Given the description of an element on the screen output the (x, y) to click on. 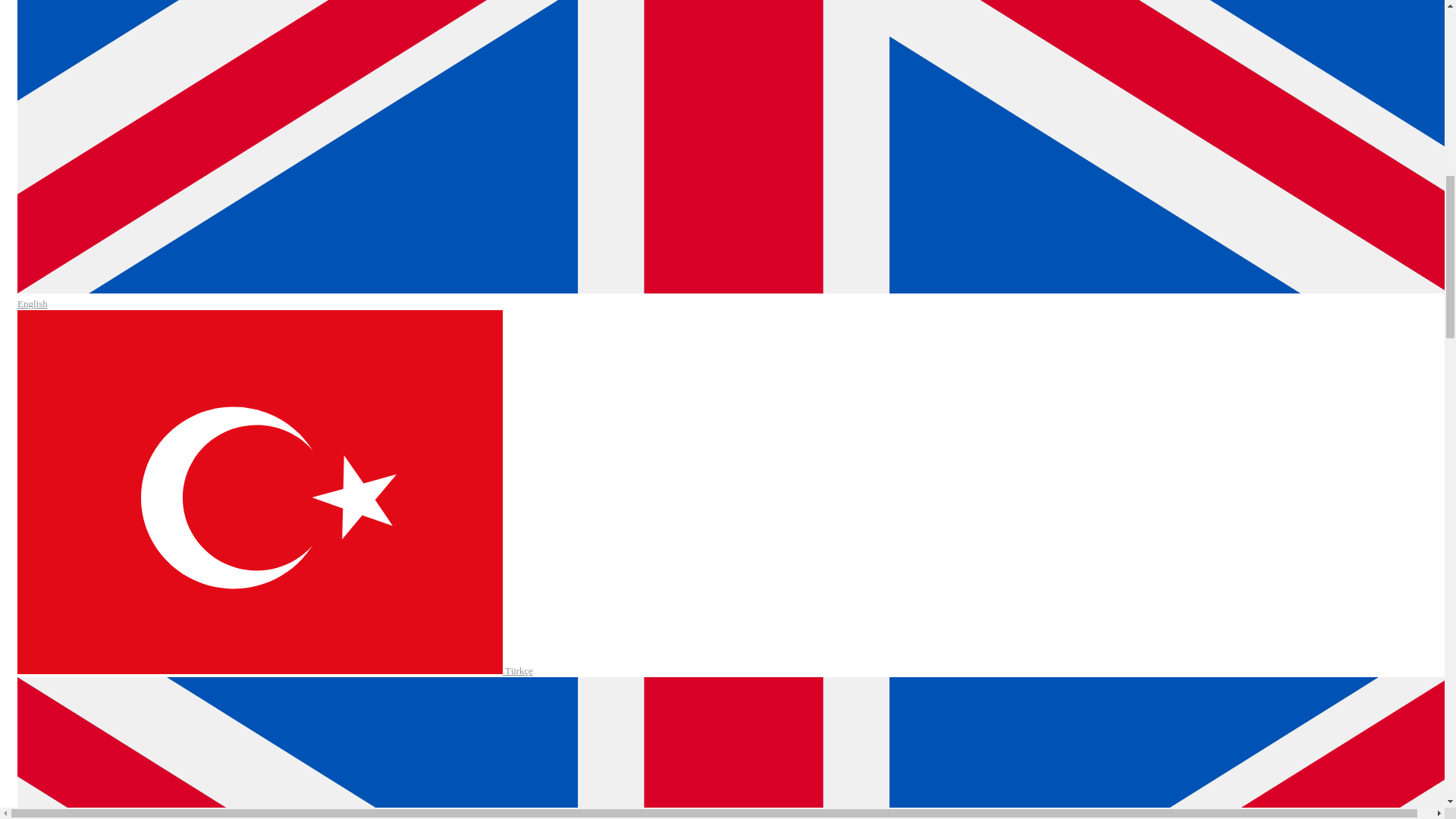
English (733, 296)
